Given the description of an element on the screen output the (x, y) to click on. 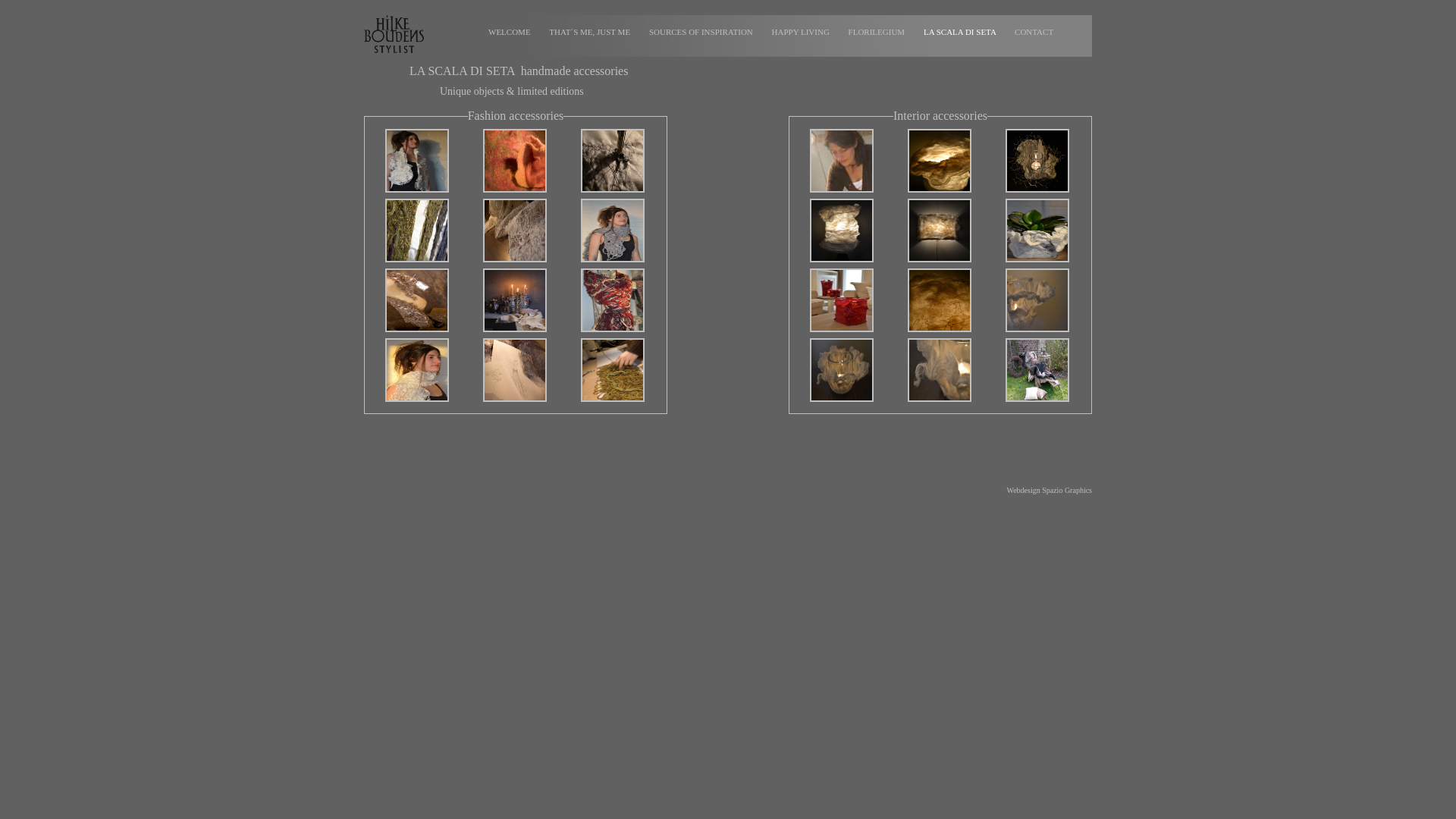
LA SCALA DI SETA      Element type: text (964, 31)
Webdesign Spazio Graphics Element type: text (1049, 489)
FLORILEGIUM      Element type: text (881, 31)
HAPPY LIVING      Element type: text (805, 31)
SOURCES OF INSPIRATION      Element type: text (706, 31)
WELCOME      Element type: text (514, 31)
CONTACT      Element type: text (1038, 31)
